Given the description of an element on the screen output the (x, y) to click on. 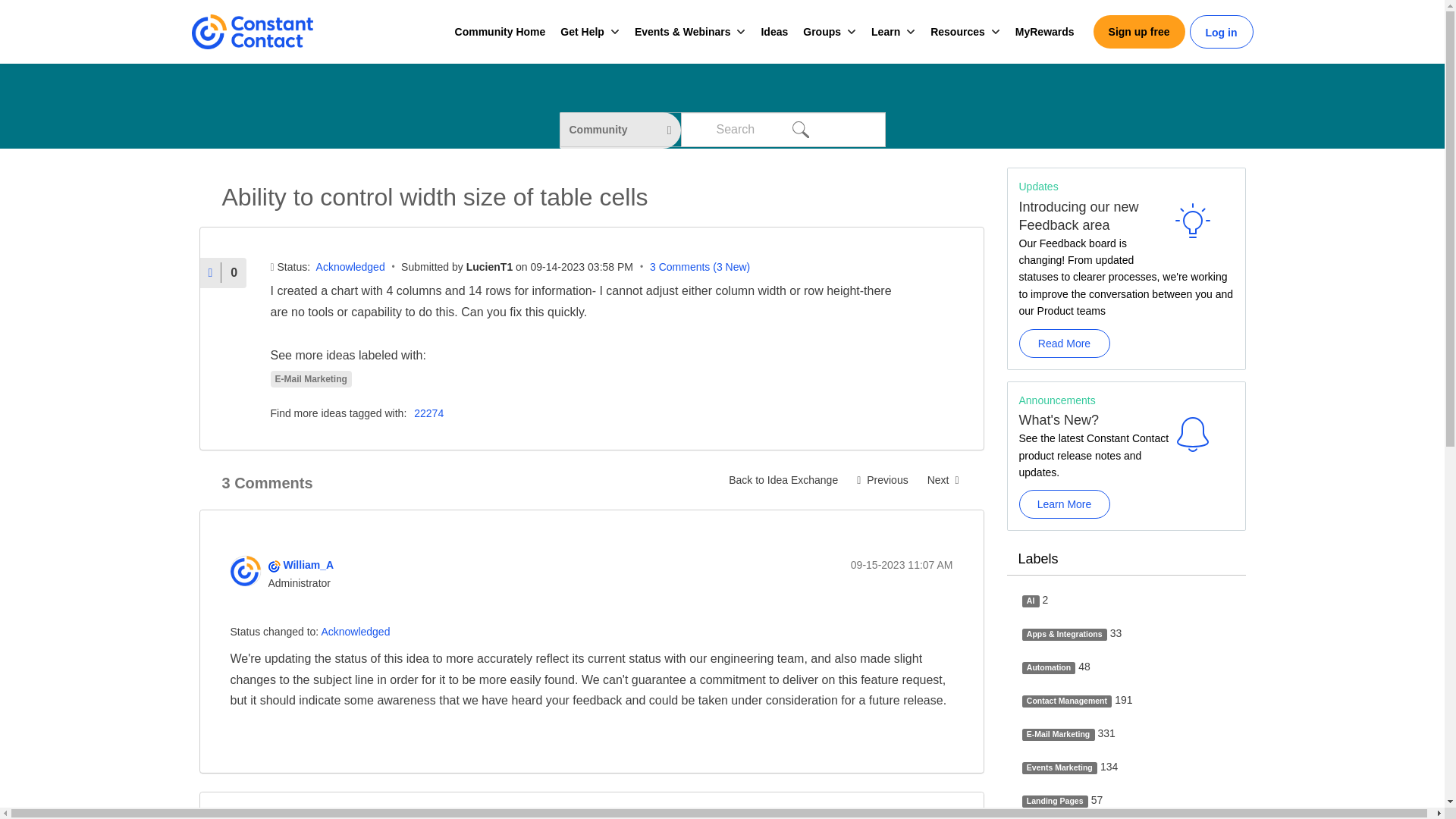
Ideas (773, 31)
Get Help (582, 31)
Search (799, 129)
Community Home (500, 31)
Resources (957, 31)
Sign up free (1139, 31)
Log in (1221, 32)
MyRewards (1044, 31)
Search (799, 129)
Groups (822, 31)
Log in (1221, 32)
Sign up free (1139, 31)
Learn (884, 31)
